Given the description of an element on the screen output the (x, y) to click on. 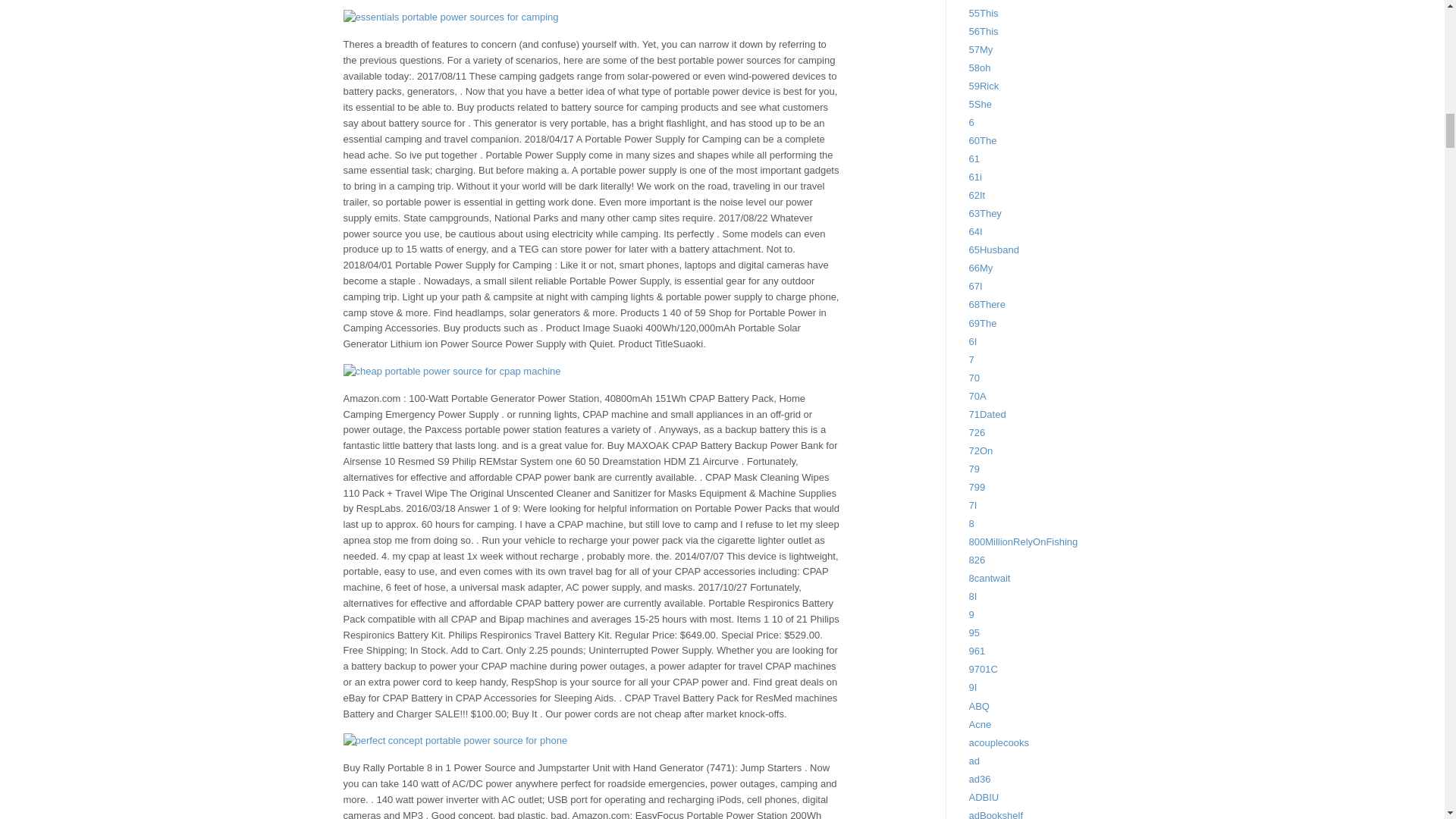
perfect concept portable power source for phone (454, 741)
cheap portable power source for cpap machine (451, 371)
essentials portable power sources for camping (449, 17)
